Given the description of an element on the screen output the (x, y) to click on. 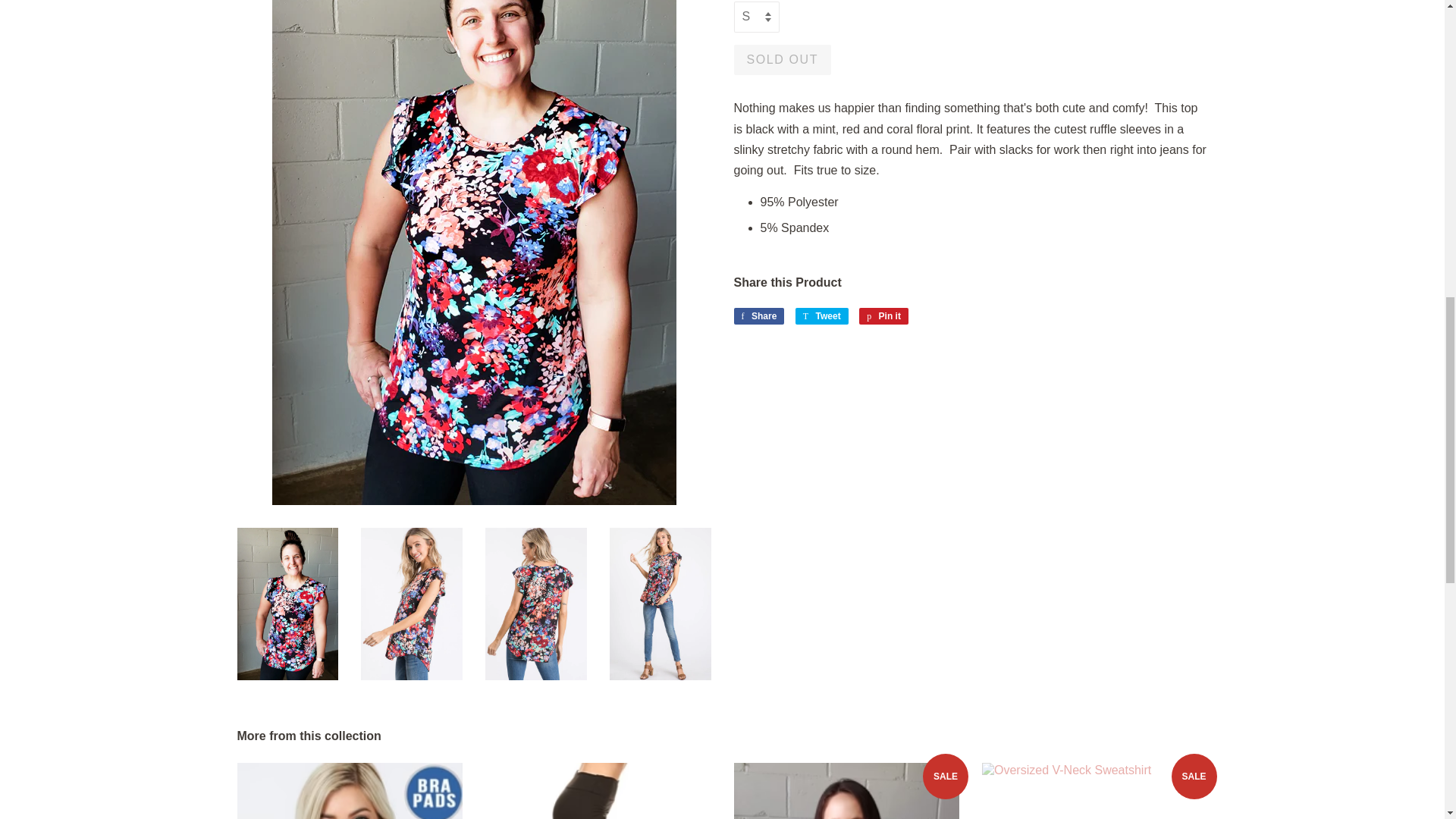
Tweet on Twitter (821, 315)
Share on Facebook (758, 315)
Pin on Pinterest (883, 315)
